Given the description of an element on the screen output the (x, y) to click on. 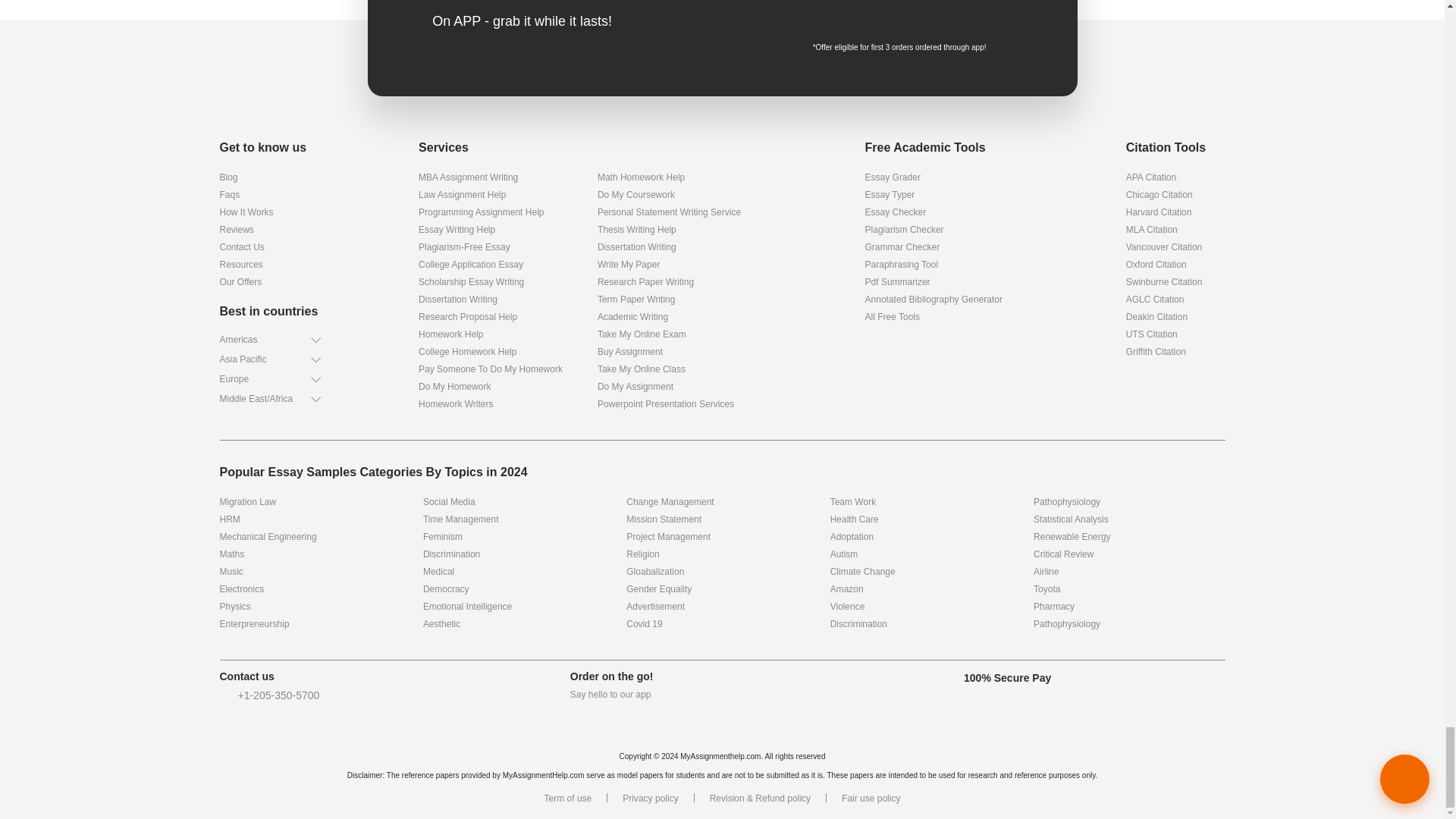
google-pay (858, 12)
footer-ph (224, 696)
qrcode (973, 16)
pataka (721, 81)
